Given the description of an element on the screen output the (x, y) to click on. 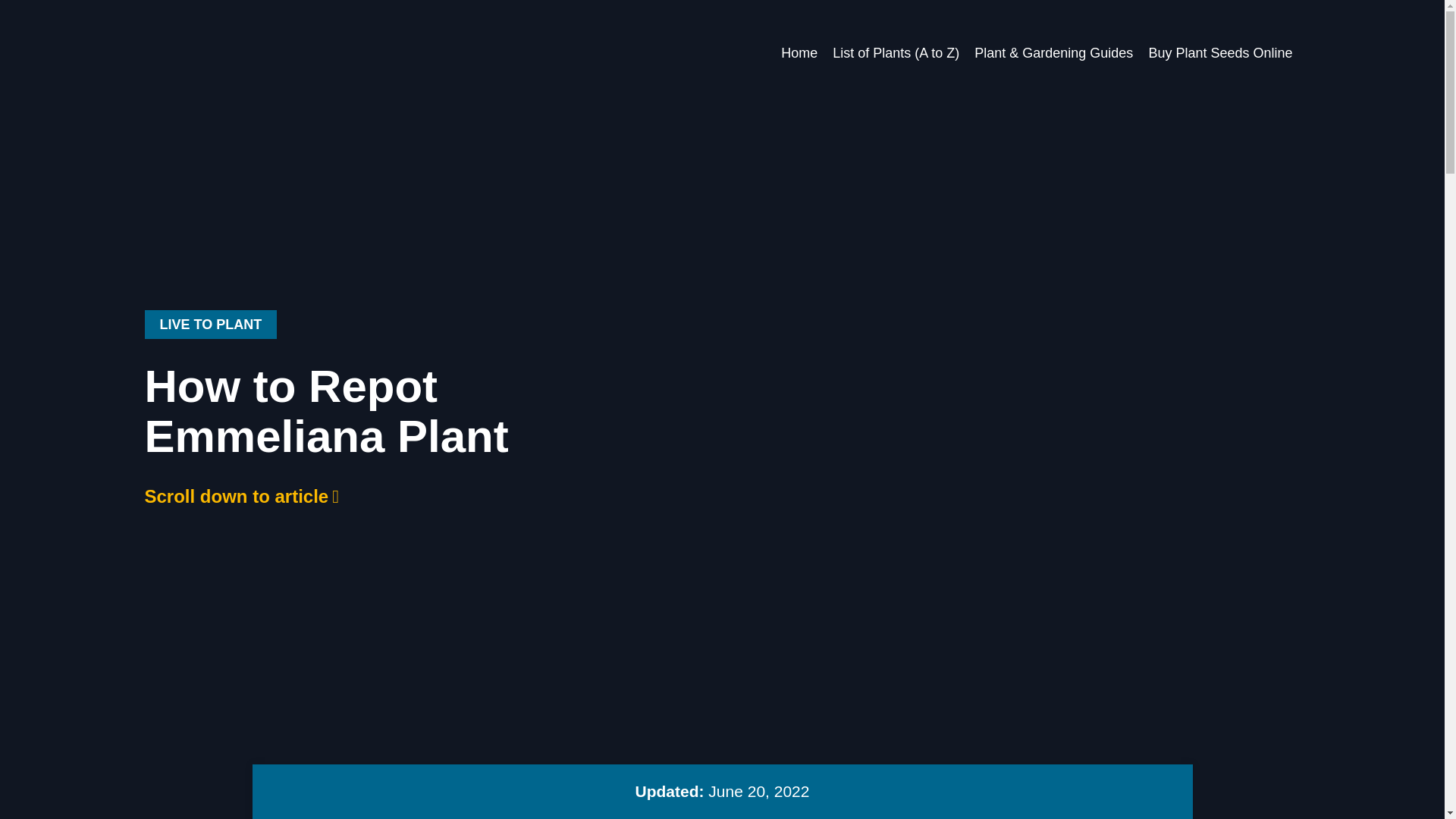
Scroll down to article (240, 495)
Buy Plant Seeds Online (1220, 52)
Home (799, 52)
